Given the description of an element on the screen output the (x, y) to click on. 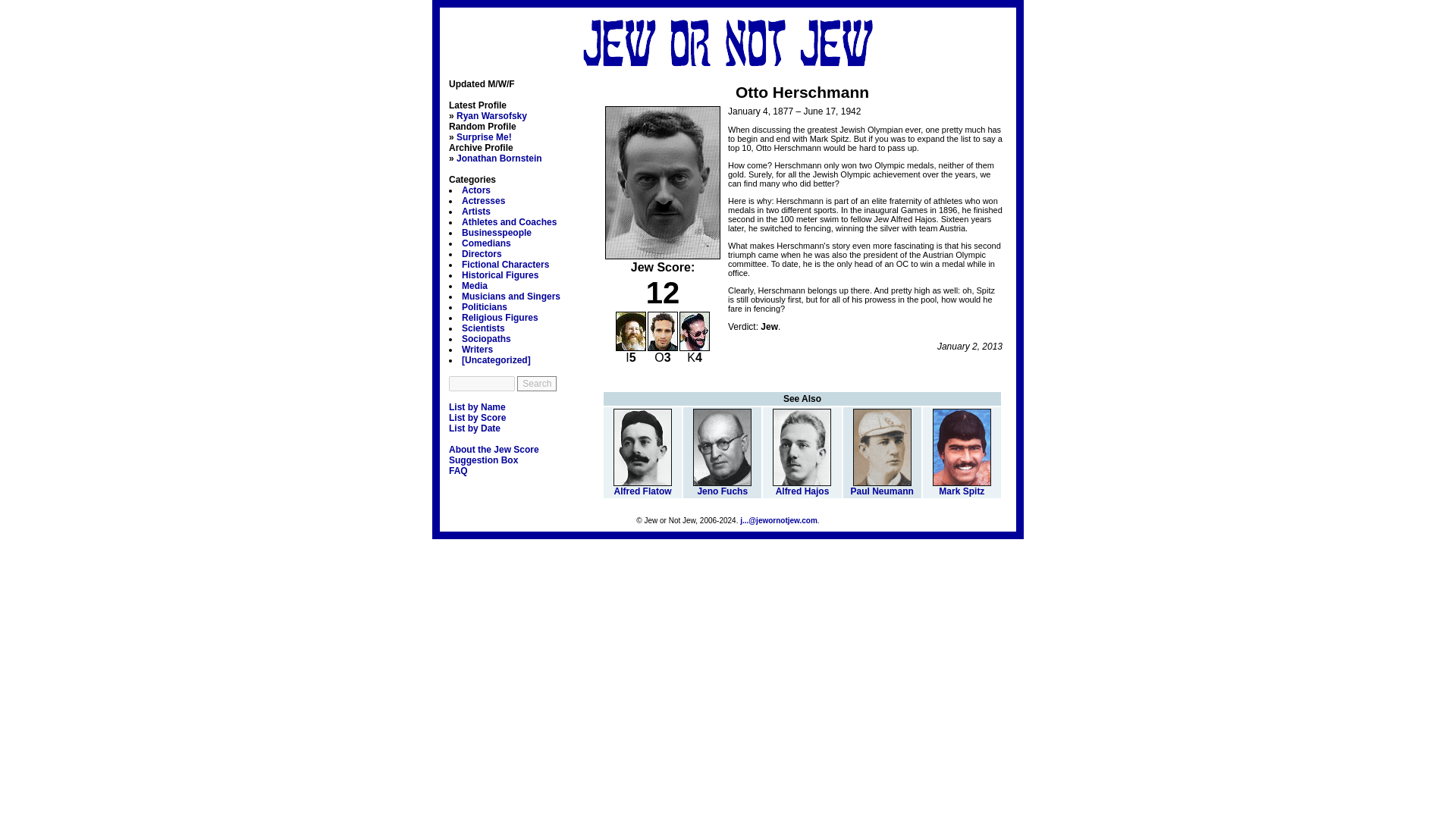
Directors (481, 253)
Actors (475, 190)
Suggestion Box (483, 460)
Religious Figures (499, 317)
Musicians and Singers (510, 296)
Search (536, 383)
List by Score (476, 417)
List by Name (476, 407)
Historical Figures (499, 275)
Ryan Warsofsky (492, 115)
